Given the description of an element on the screen output the (x, y) to click on. 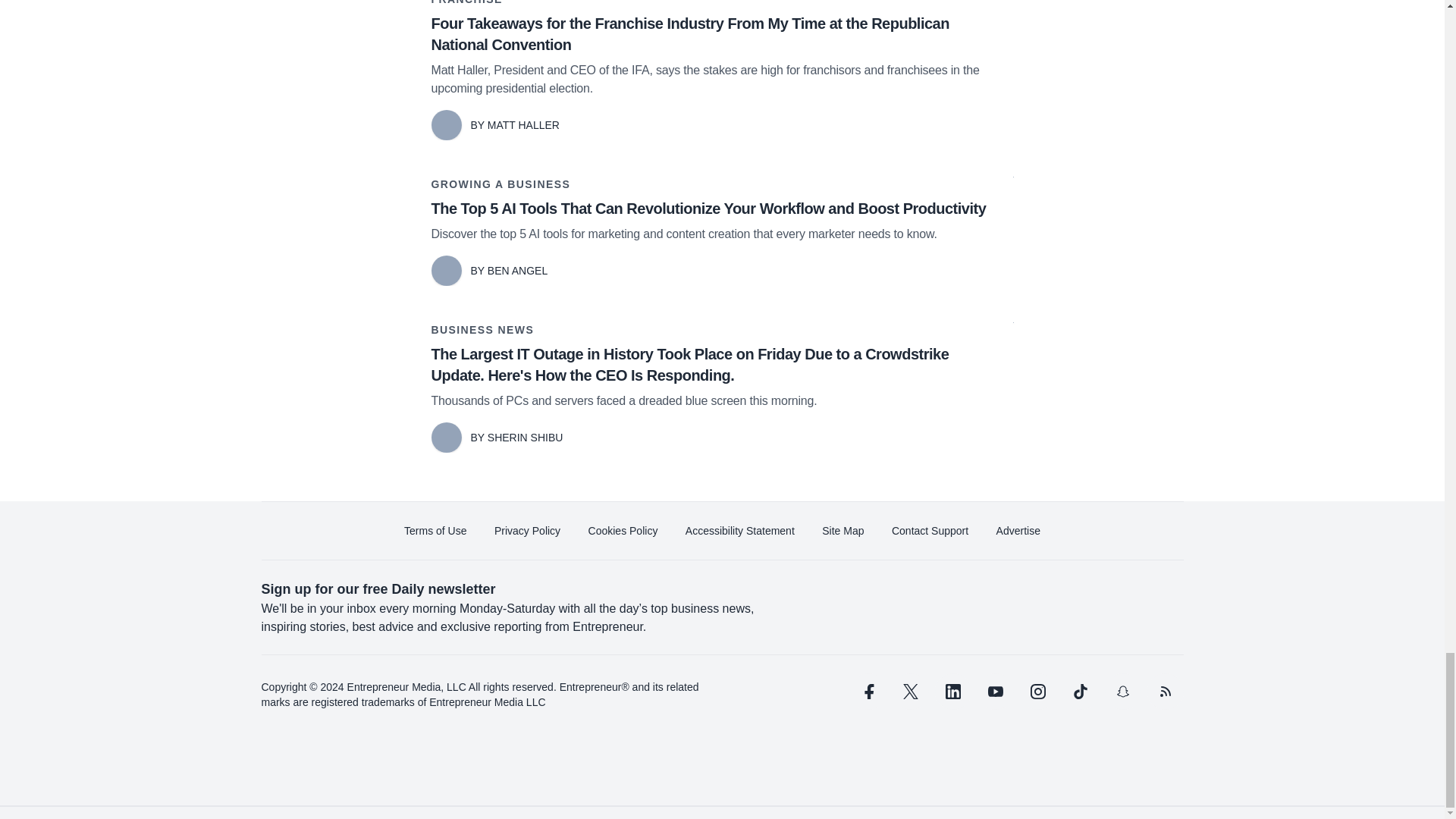
facebook (866, 691)
youtube (994, 691)
snapchat (1121, 691)
twitter (909, 691)
linkedin (952, 691)
instagram (1037, 691)
tiktok (1079, 691)
